Given the description of an element on the screen output the (x, y) to click on. 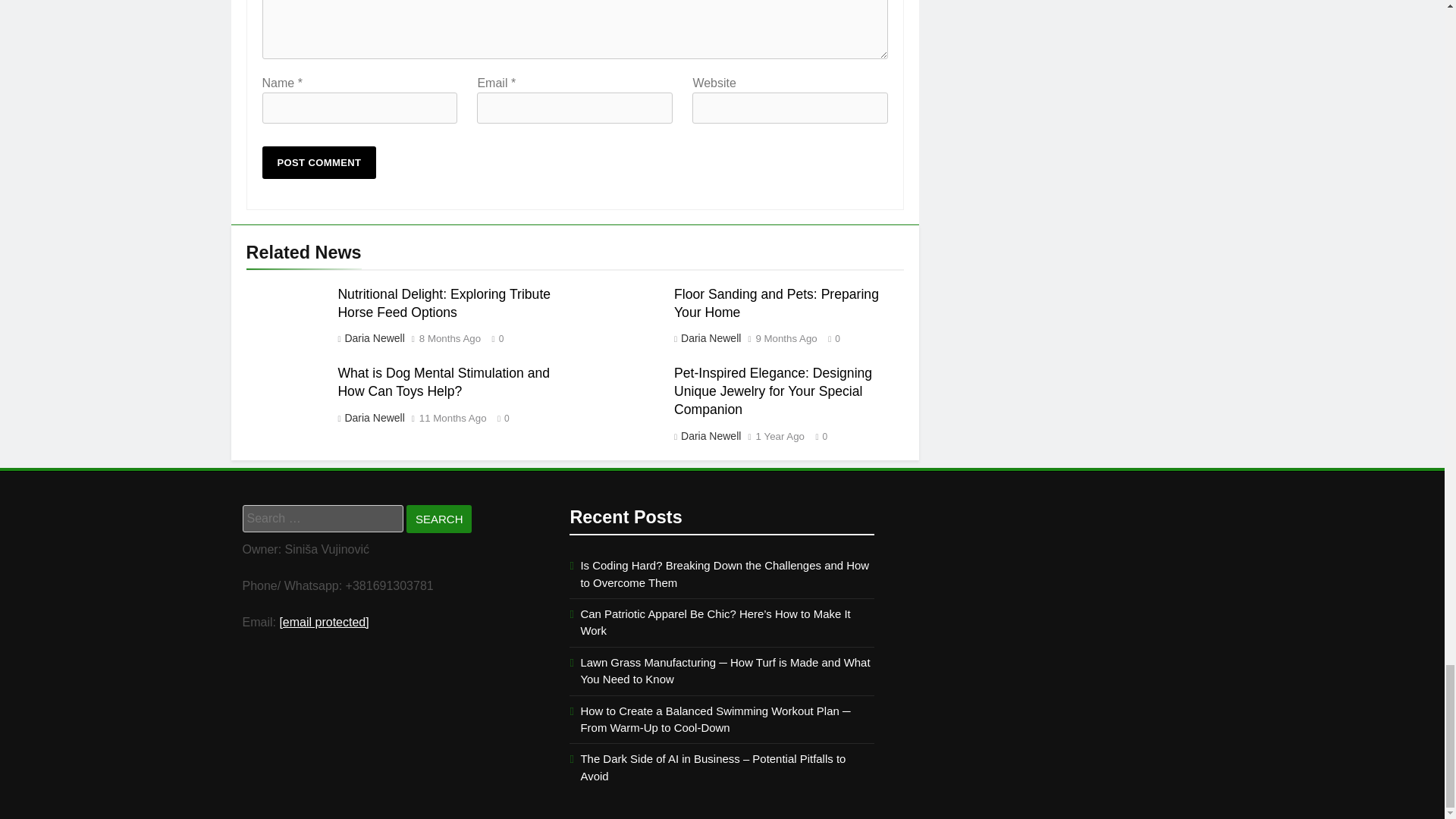
Post Comment (319, 162)
Search (438, 519)
Search (438, 519)
